Given the description of an element on the screen output the (x, y) to click on. 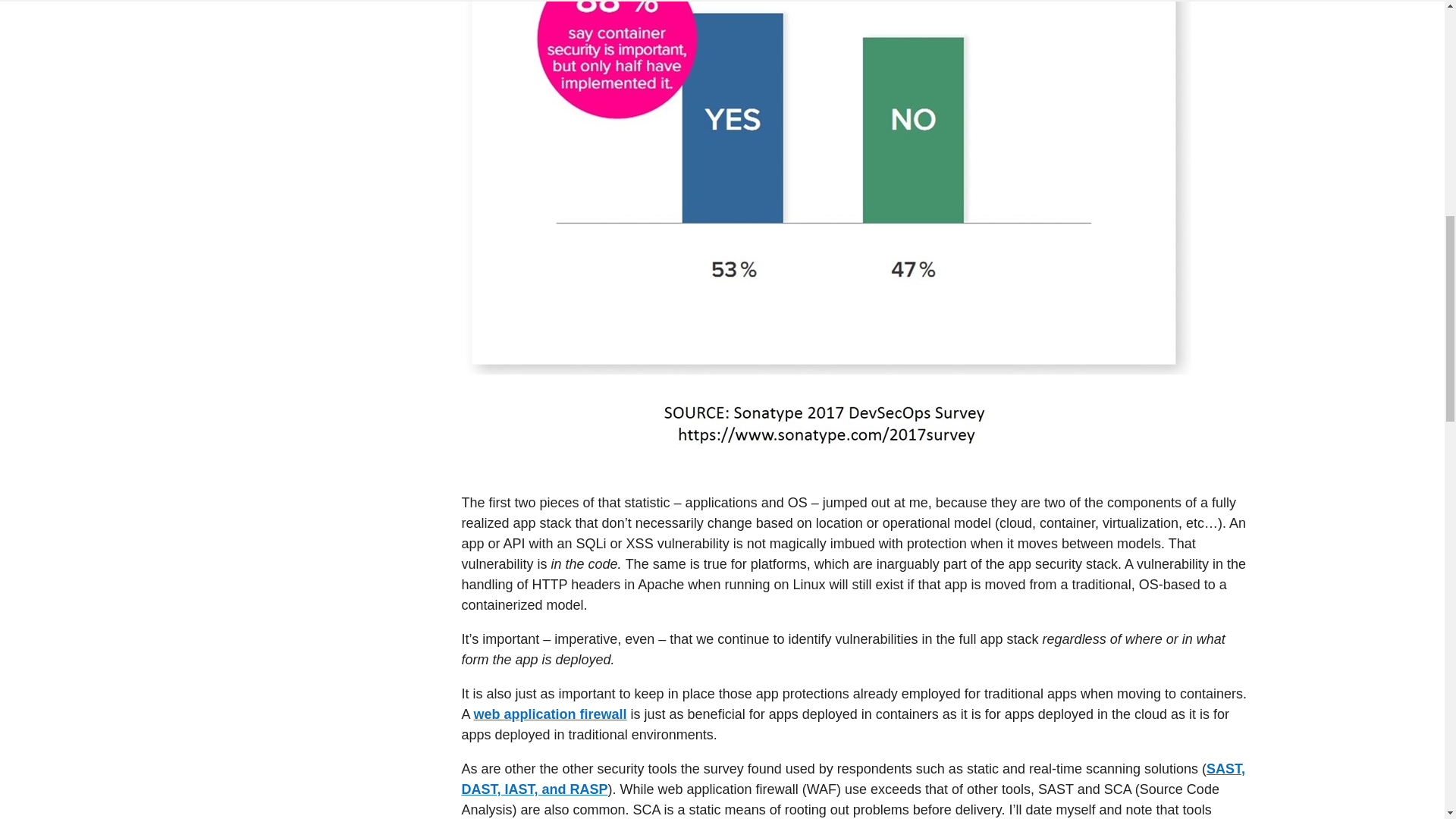
web application firewall (550, 713)
SAST, DAST, IAST, and RASP (852, 778)
